Given the description of an element on the screen output the (x, y) to click on. 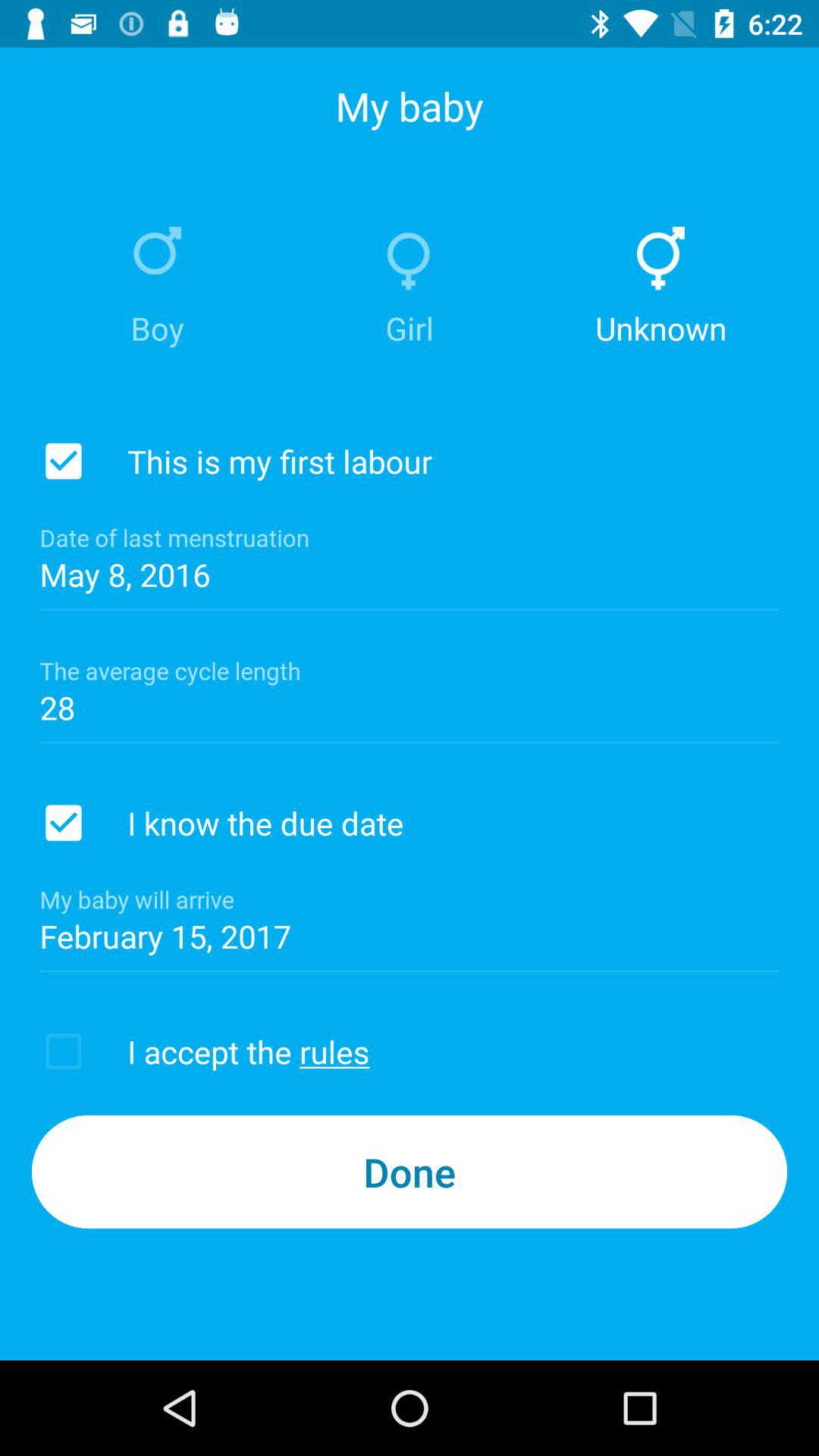
i know the due date (63, 822)
